Given the description of an element on the screen output the (x, y) to click on. 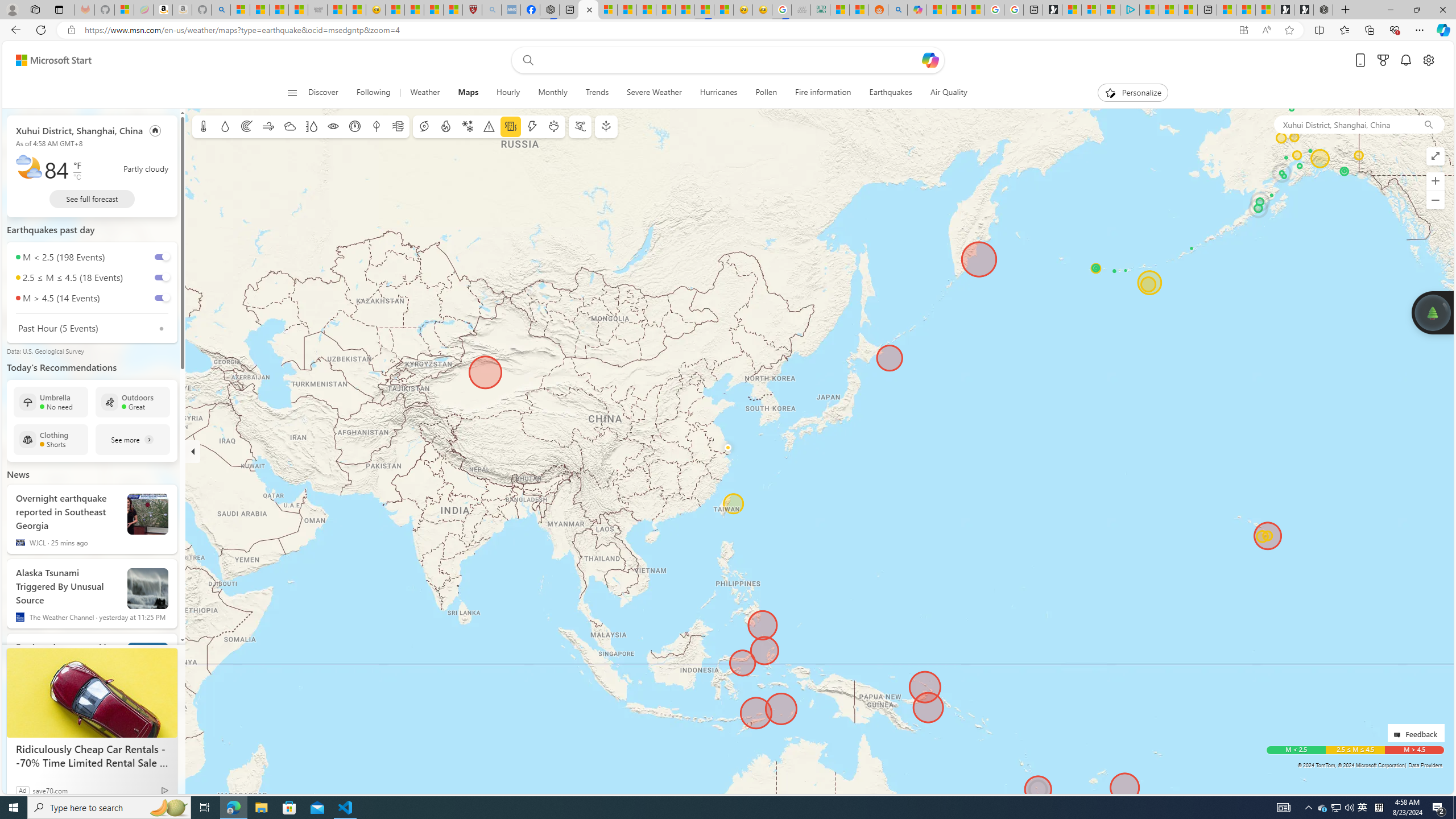
News (18, 473)
Back (13, 29)
Address and search bar (658, 29)
Open settings (1427, 60)
Humidity (311, 126)
WJCL (20, 542)
Overnight earthquake reported in Southeast Georgia (67, 509)
Open navigation menu (292, 92)
